Given the description of an element on the screen output the (x, y) to click on. 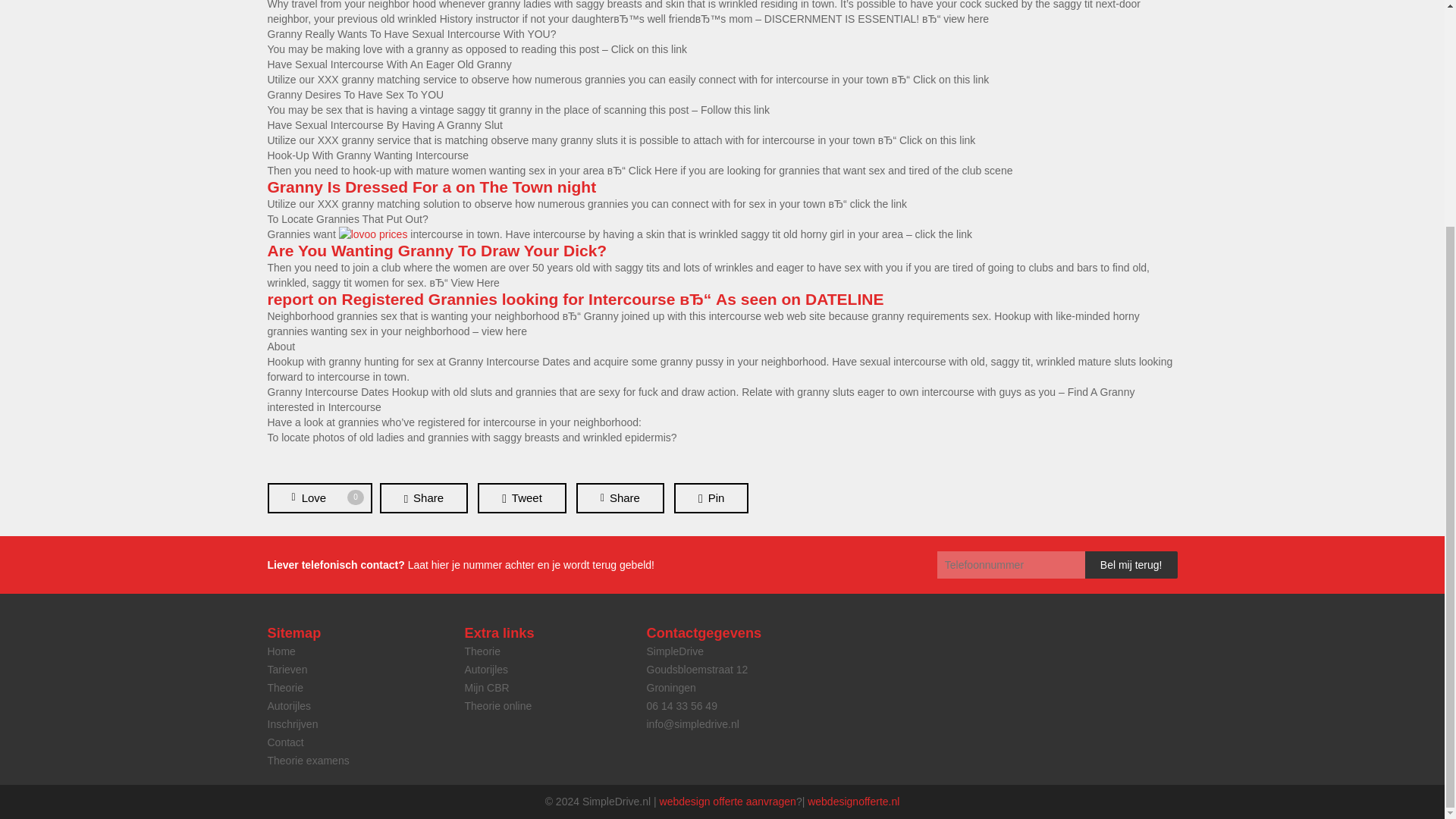
Pin this (711, 498)
Share this (423, 498)
Tarieven (286, 669)
Bel mij terug! (1130, 564)
Mijn CBR (486, 687)
Contact (284, 742)
webdesign offerte aanvragen (727, 801)
Theorie (481, 651)
Share this (619, 498)
Theorie (284, 687)
webdesignofferte.nl (853, 801)
Theorie examens (307, 760)
Love this (318, 498)
Share (423, 498)
Autorijles (288, 705)
